Given the description of an element on the screen output the (x, y) to click on. 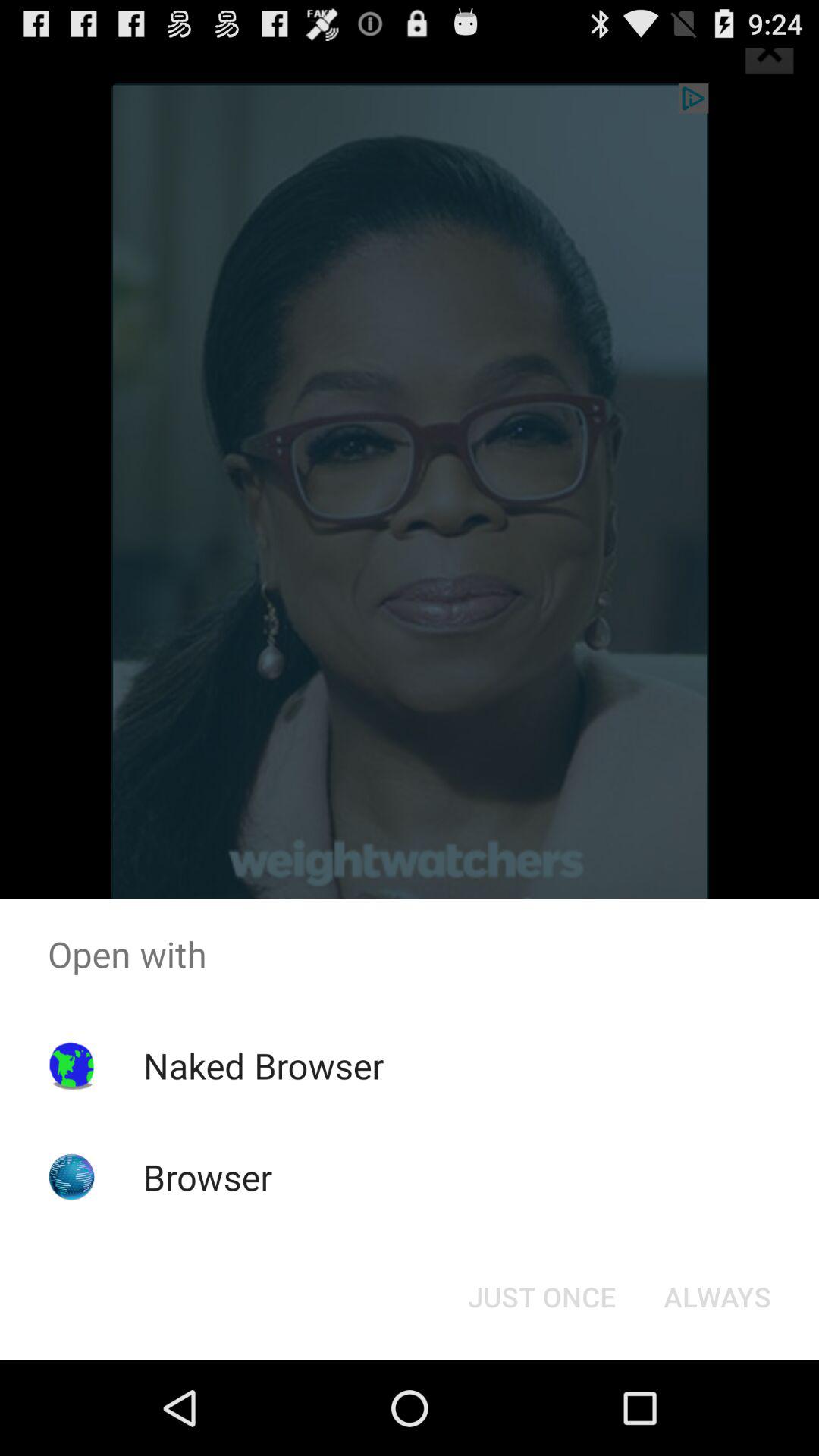
tap the always item (717, 1296)
